Given the description of an element on the screen output the (x, y) to click on. 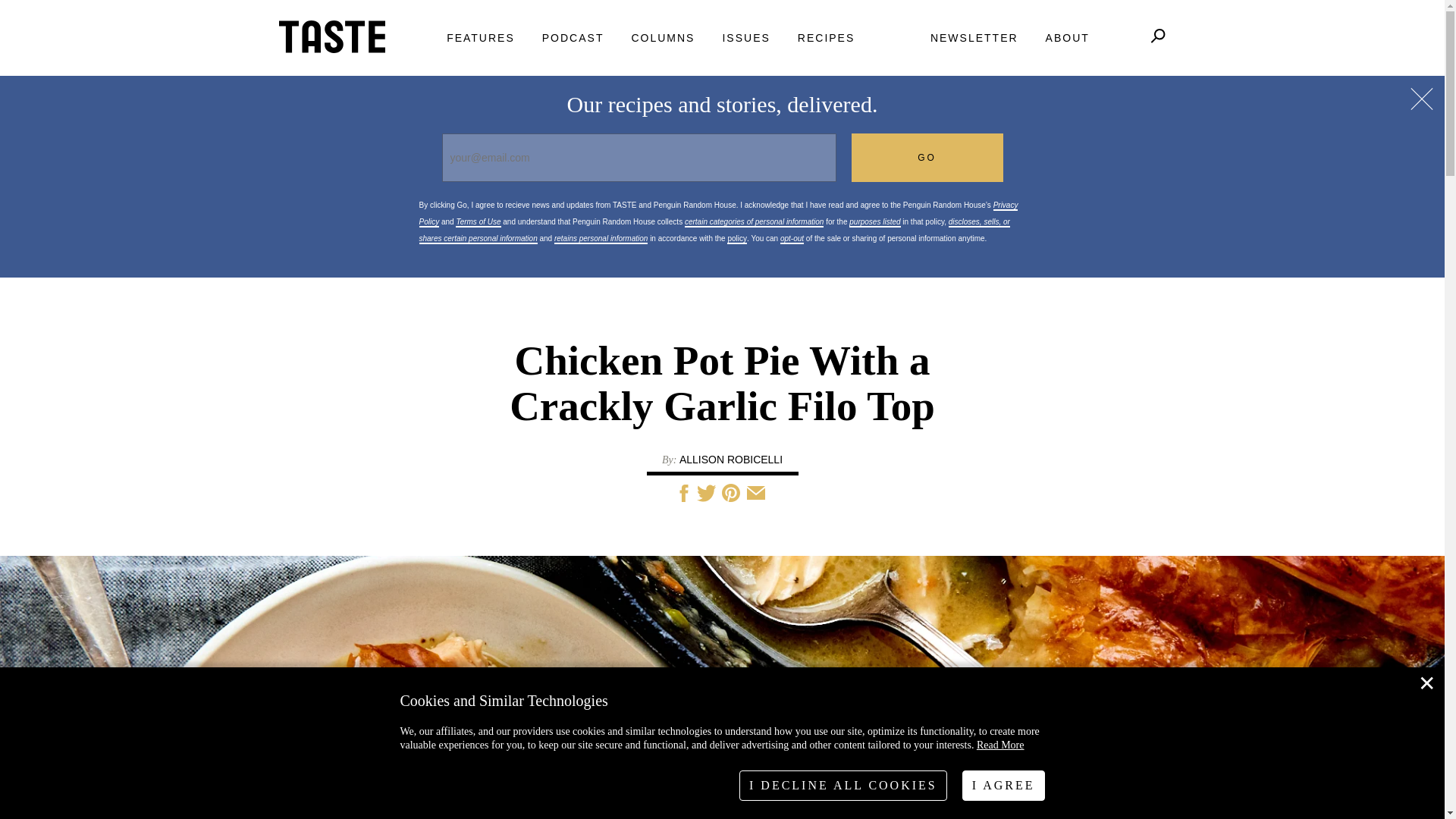
FEATURES (480, 38)
go (926, 157)
